Given the description of an element on the screen output the (x, y) to click on. 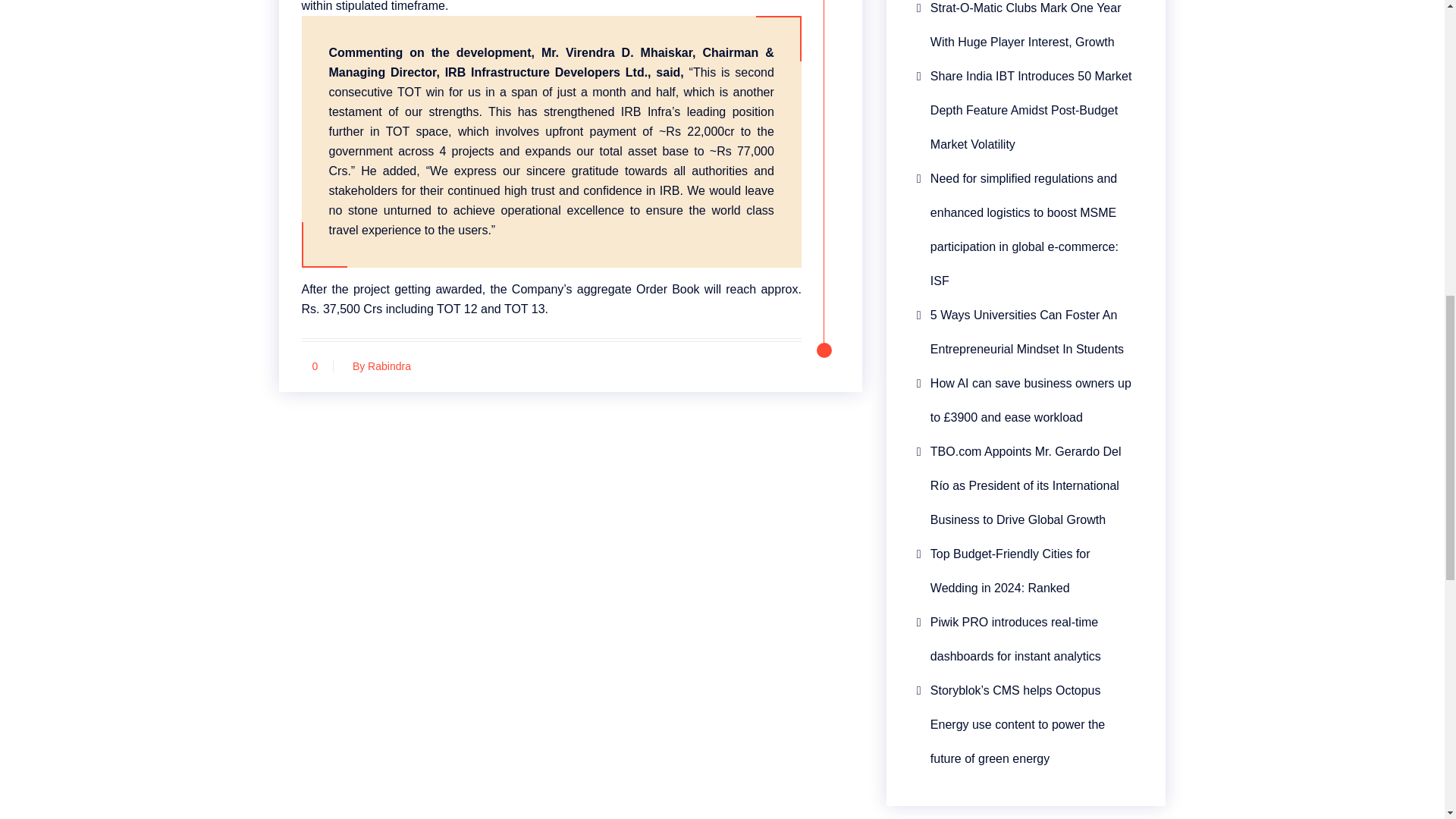
By Rabindra (377, 366)
0 (315, 366)
Top Budget-Friendly Cities for Wedding in 2024: Ranked (1026, 571)
